Given the description of an element on the screen output the (x, y) to click on. 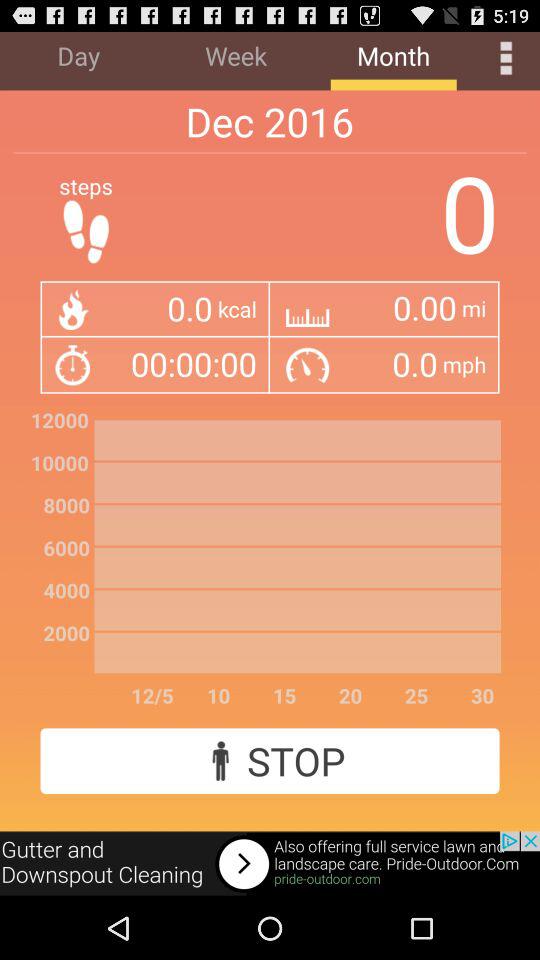
go to advertisement website (270, 864)
